Given the description of an element on the screen output the (x, y) to click on. 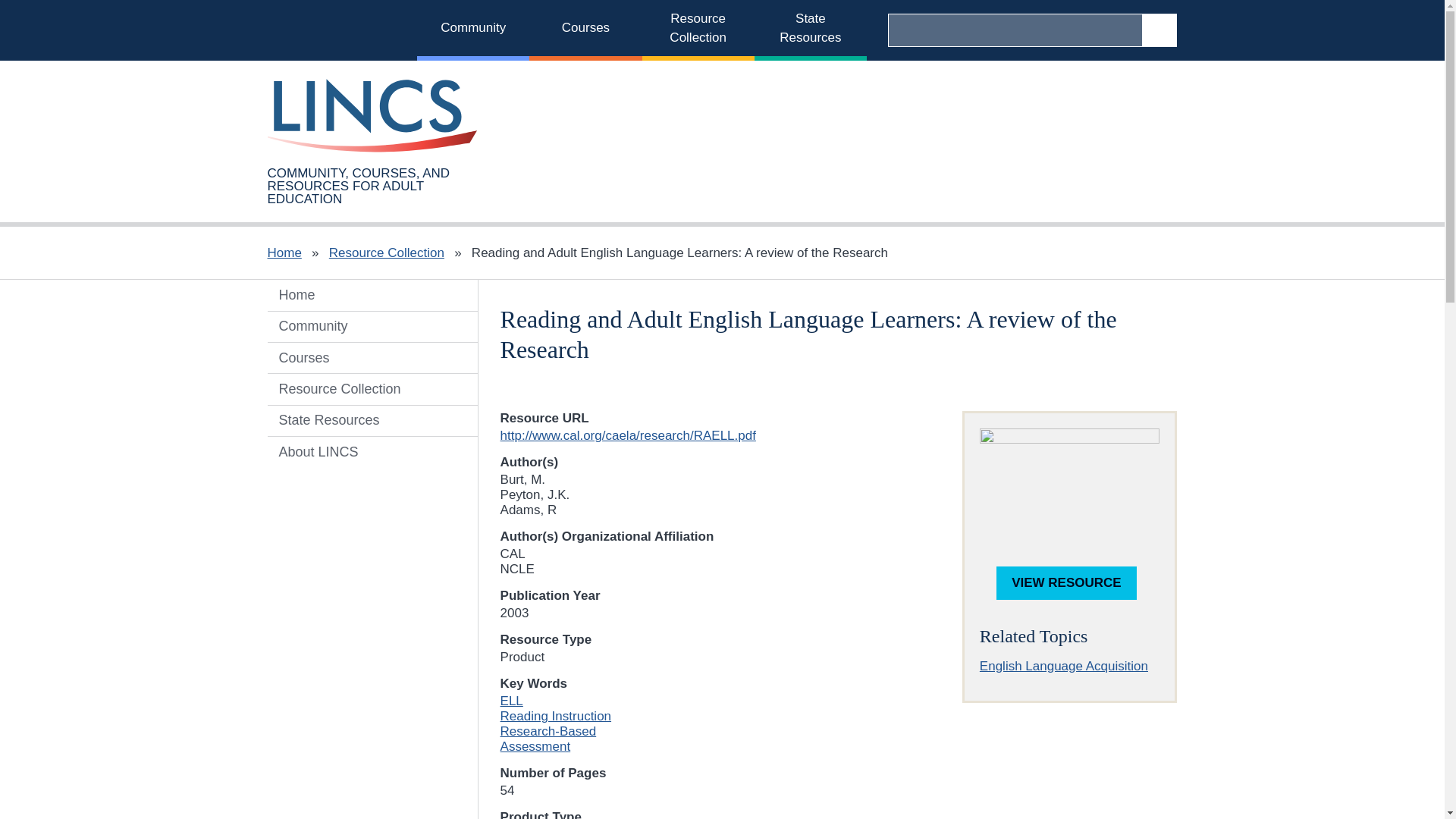
Community (472, 30)
State Resources (810, 30)
LINCS Home Page (372, 114)
Enter the terms you wish to search for. (1015, 29)
LINCS Home (333, 30)
Resource Collection (698, 30)
Courses (585, 30)
